Given the description of an element on the screen output the (x, y) to click on. 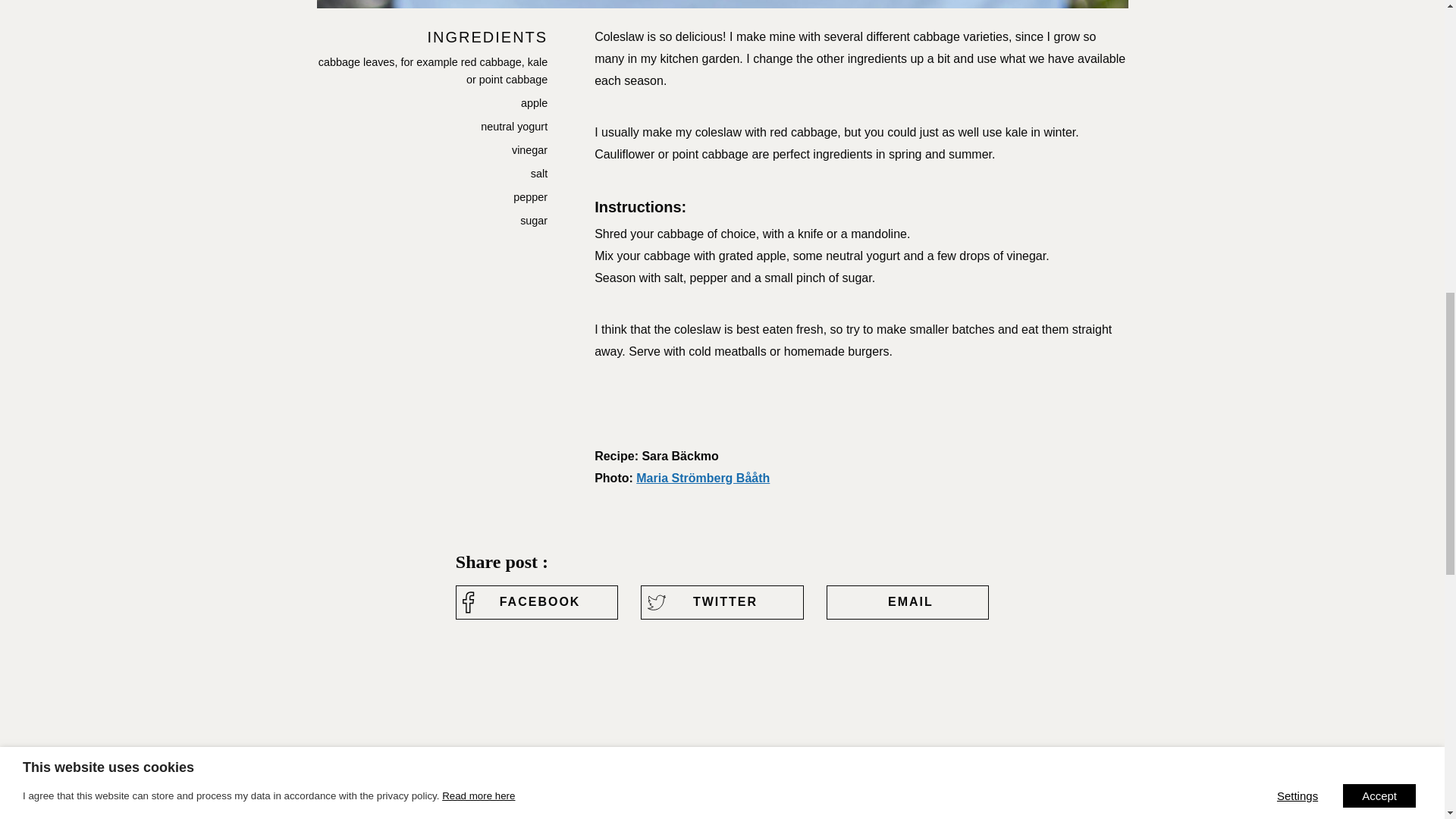
FACEBOOK (536, 602)
TWITTER (721, 602)
EMAIL (907, 602)
